Given the description of an element on the screen output the (x, y) to click on. 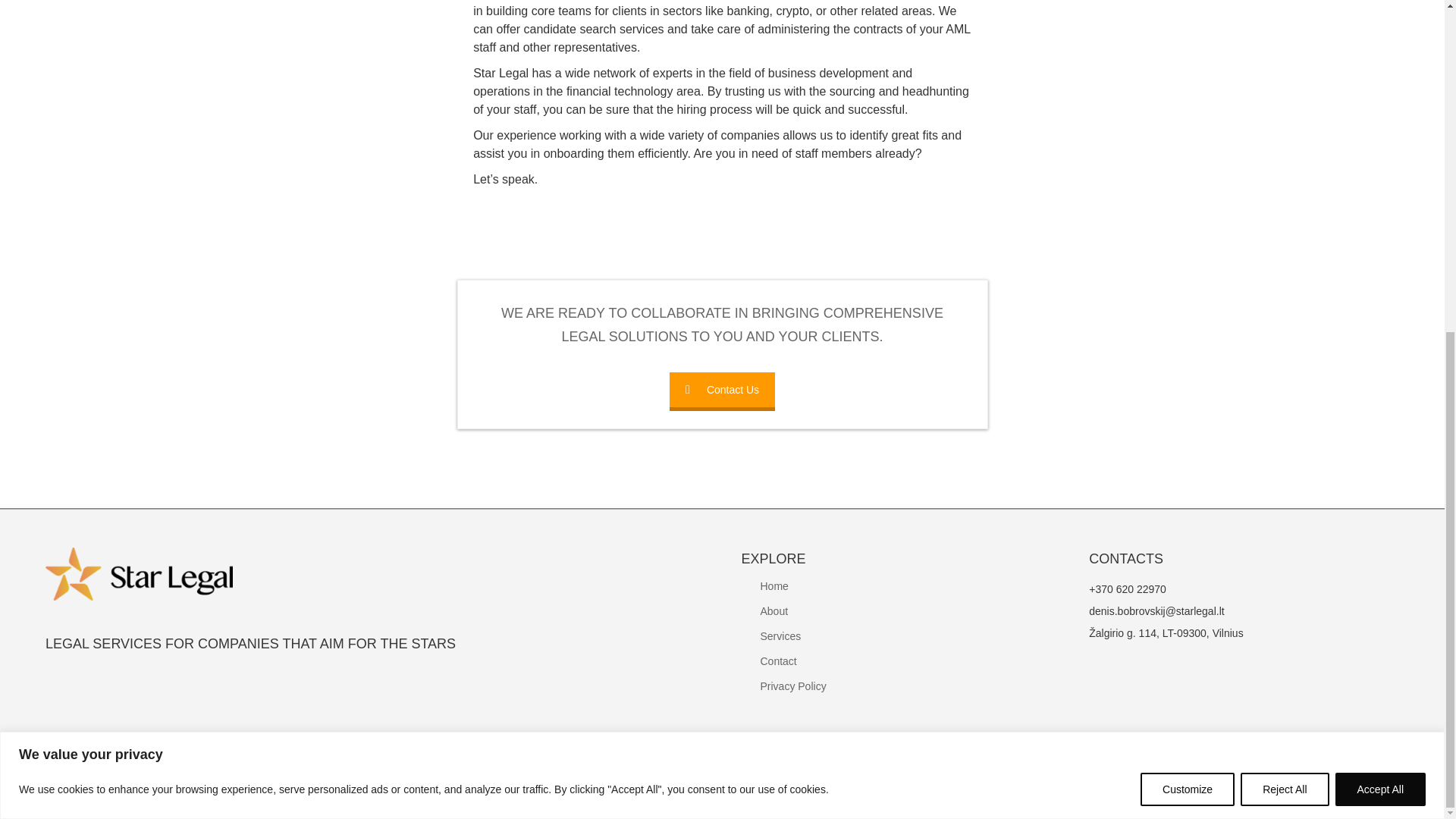
Accept All (1380, 234)
Reject All (1283, 234)
Customize (1187, 234)
